Given the description of an element on the screen output the (x, y) to click on. 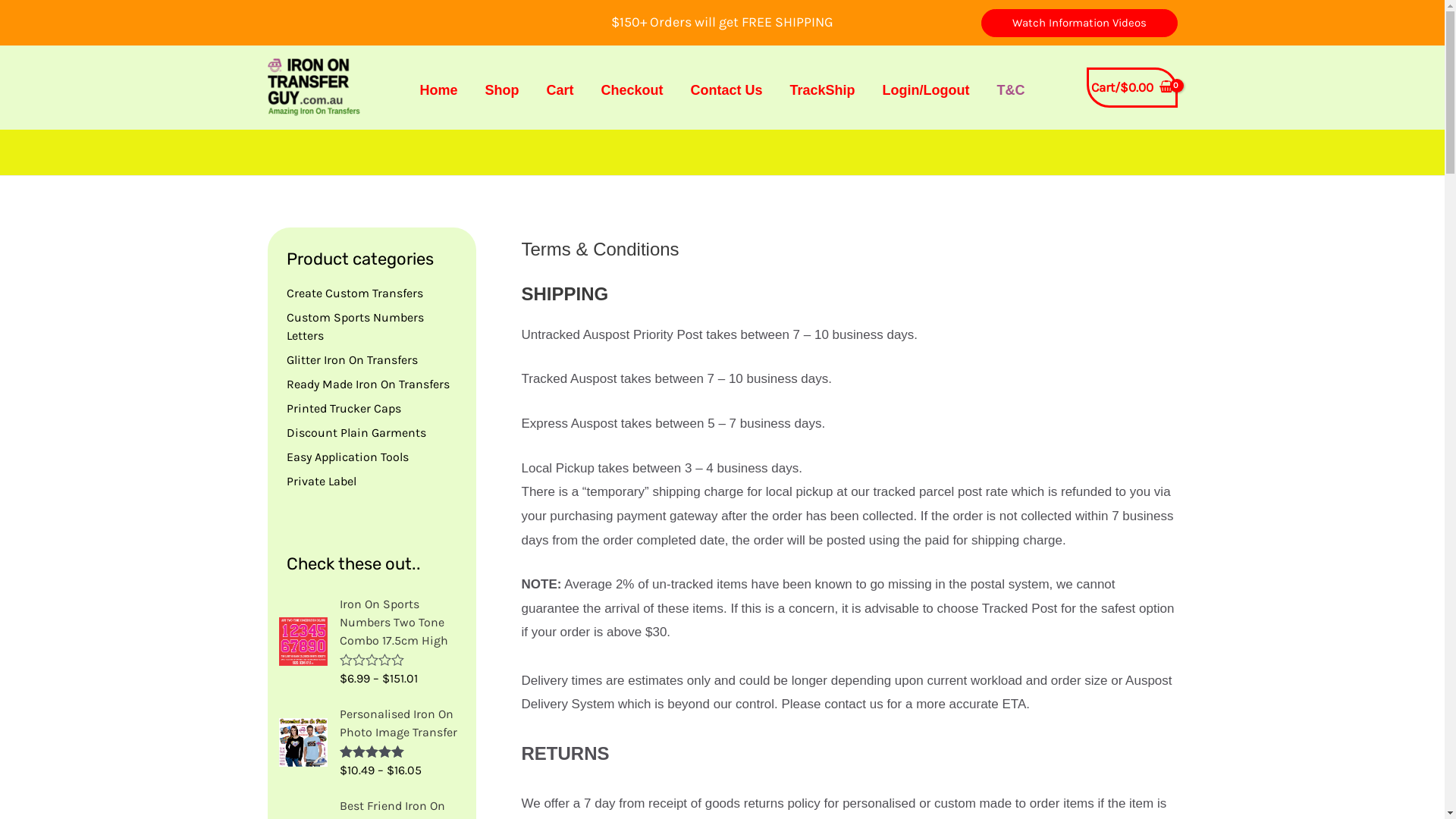
Iron On Sports Numbers Two Tone Combo 17.5cm High Element type: text (401, 622)
Custom Sports Numbers Letters Element type: text (354, 326)
Checkout Element type: text (631, 89)
Home Element type: text (437, 89)
Private Label Element type: text (321, 480)
Cart/$0.00 Element type: text (1130, 87)
Personalised Iron On Photo Image Transfer Element type: text (401, 723)
Printed Trucker Caps Element type: text (343, 408)
Login/Logout Element type: text (926, 89)
T&C Element type: text (1010, 89)
Glitter Iron On Transfers Element type: text (351, 359)
Shop Element type: text (501, 89)
Easy Application Tools Element type: text (347, 456)
Ready Made Iron On Transfers Element type: text (367, 383)
TrackShip Element type: text (822, 89)
Create Custom Transfers Element type: text (354, 292)
Discount Plain Garments Element type: text (356, 432)
Contact Us Element type: text (726, 89)
Watch Information Videos Element type: text (1079, 23)
Cart Element type: text (559, 89)
